Given the description of an element on the screen output the (x, y) to click on. 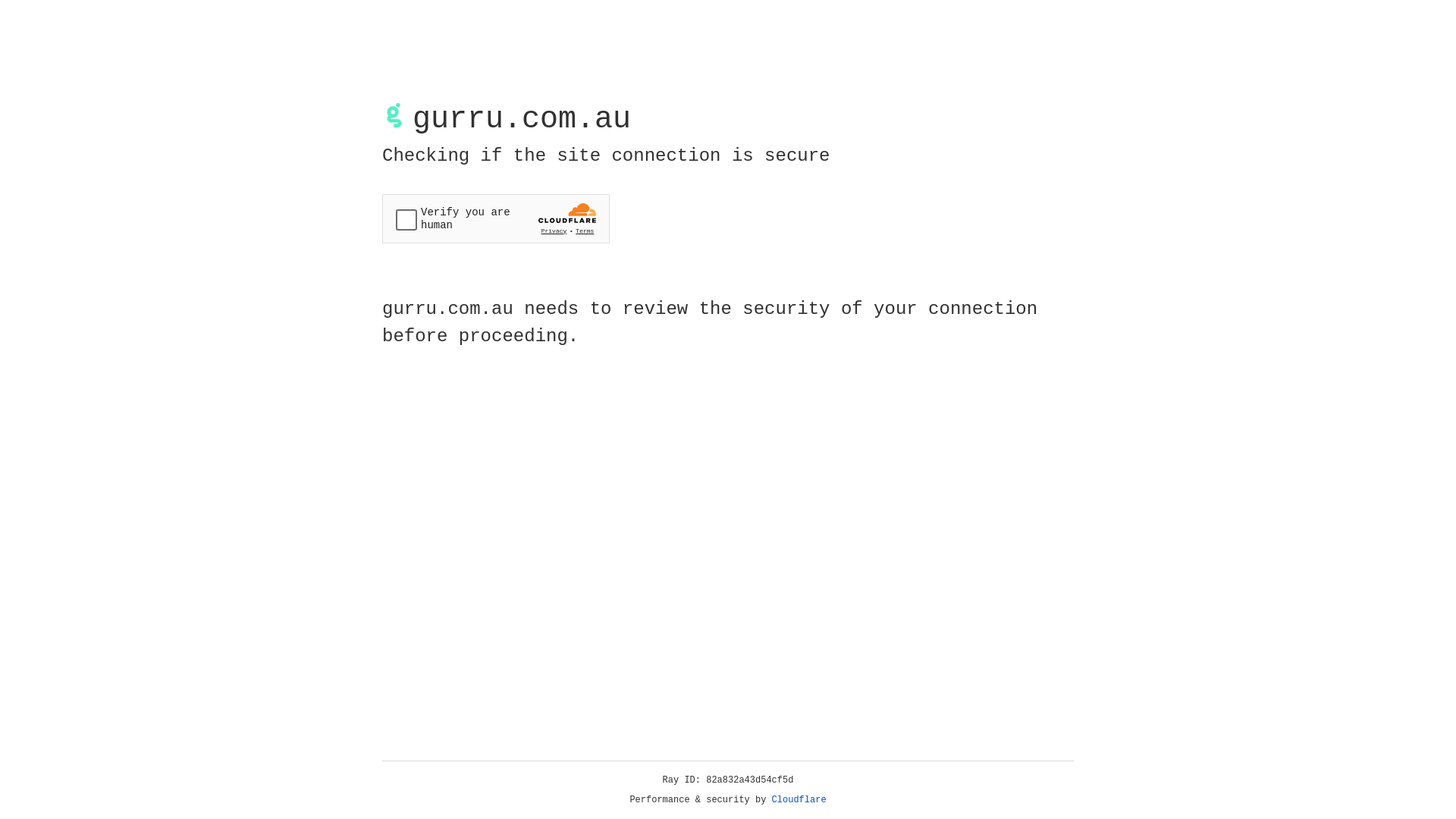
Widget containing a Cloudflare security challenge Element type: hover (495, 218)
Cloudflare Element type: text (798, 799)
